Given the description of an element on the screen output the (x, y) to click on. 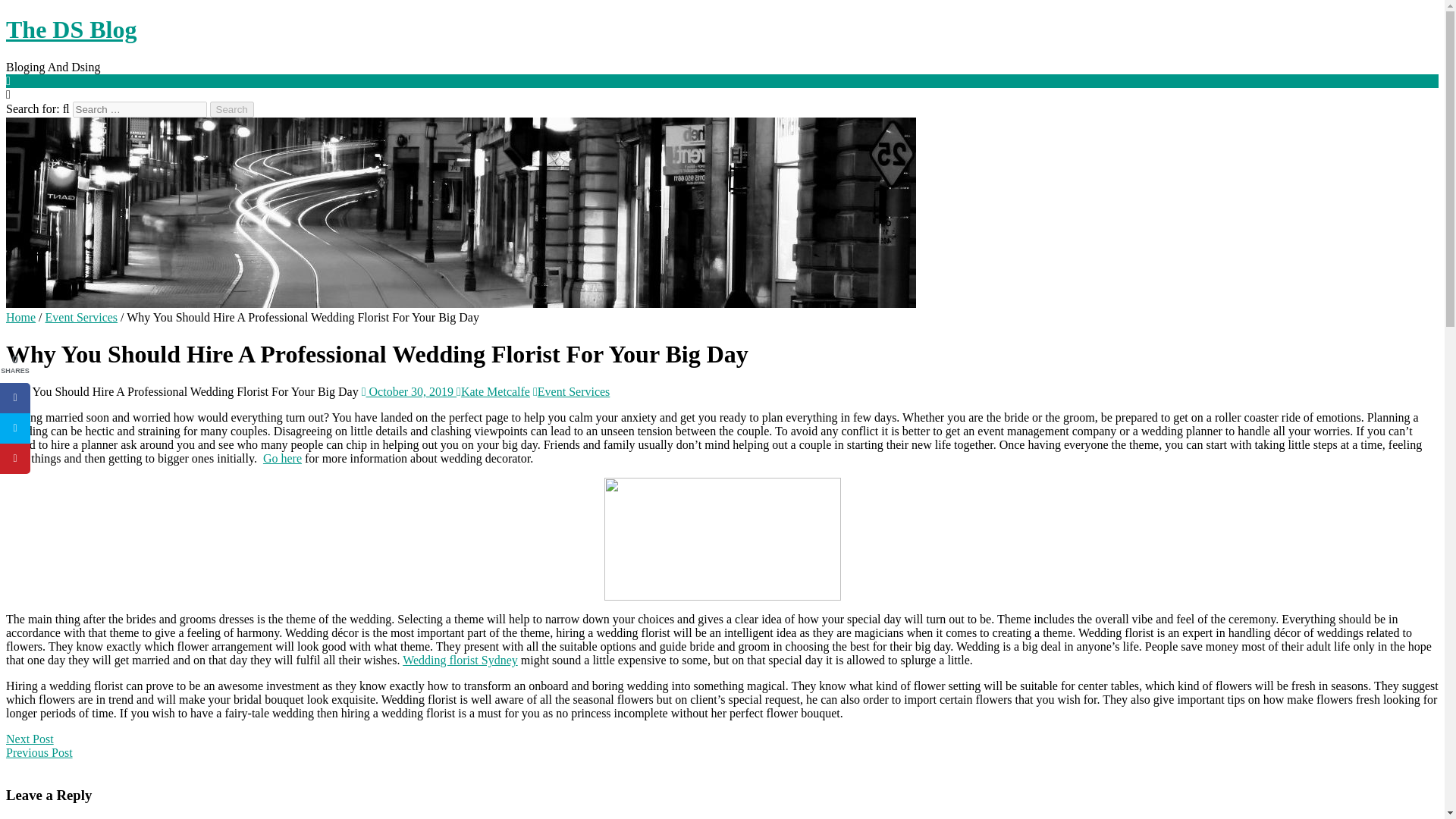
October 30, 2019 (409, 391)
Kate Metcalfe (493, 391)
Next Post (29, 738)
Event Services (571, 391)
Event Services (81, 317)
View all posts by Kate Metcalfe (493, 391)
The DS Blog (70, 29)
Wedding florist Sydney (460, 659)
Search (231, 109)
Search (231, 109)
Previous Post (38, 752)
Go here (282, 458)
Home (19, 317)
Search (231, 109)
